Given the description of an element on the screen output the (x, y) to click on. 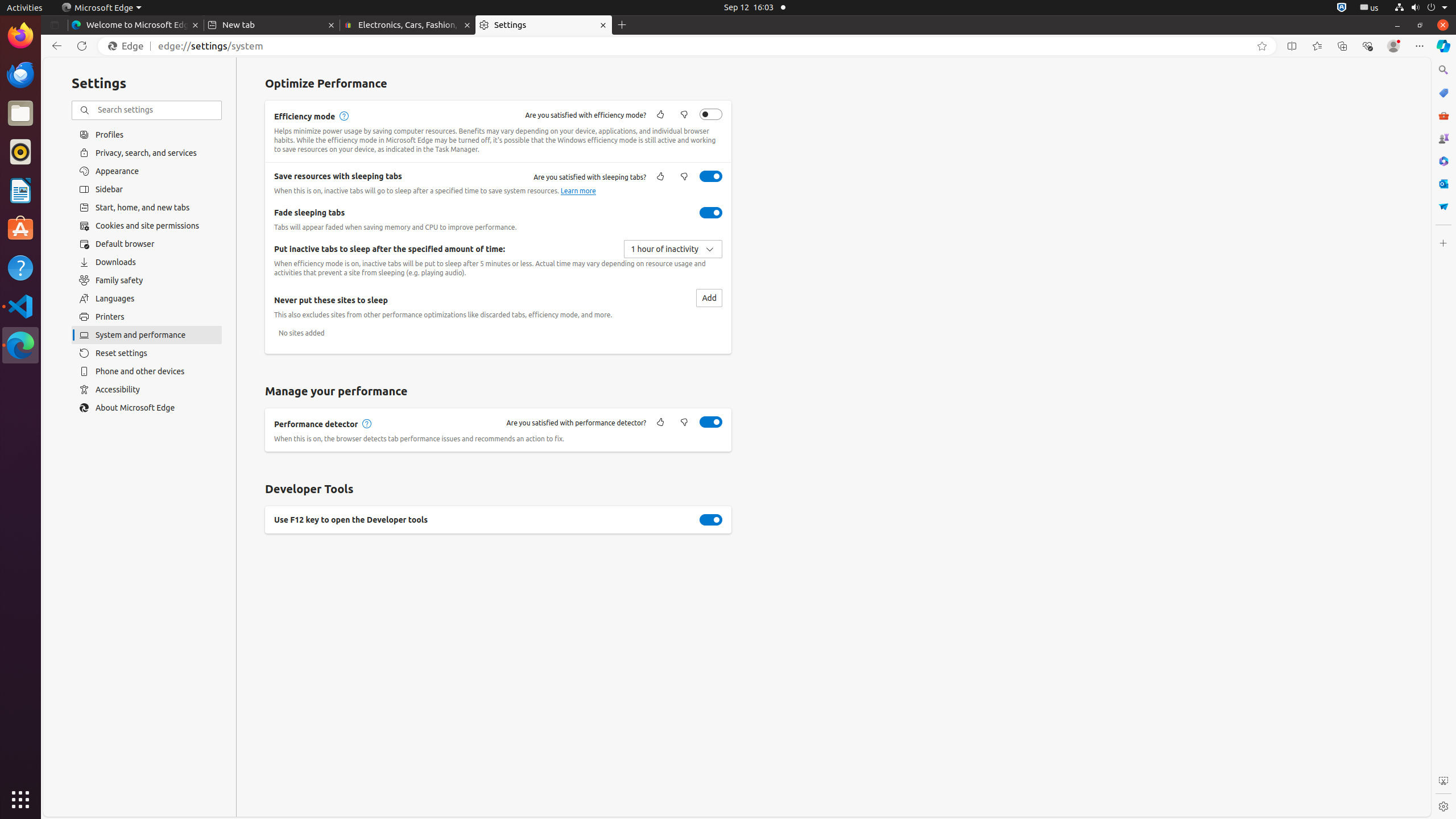
Privacy, search, and services Element type: tree-item (146, 152)
Sidebar Element type: tree-item (146, 189)
Cookies and site permissions Element type: tree-item (146, 225)
Reset settings Element type: tree-item (146, 353)
Dislike Element type: toggle-button (684, 423)
